Given the description of an element on the screen output the (x, y) to click on. 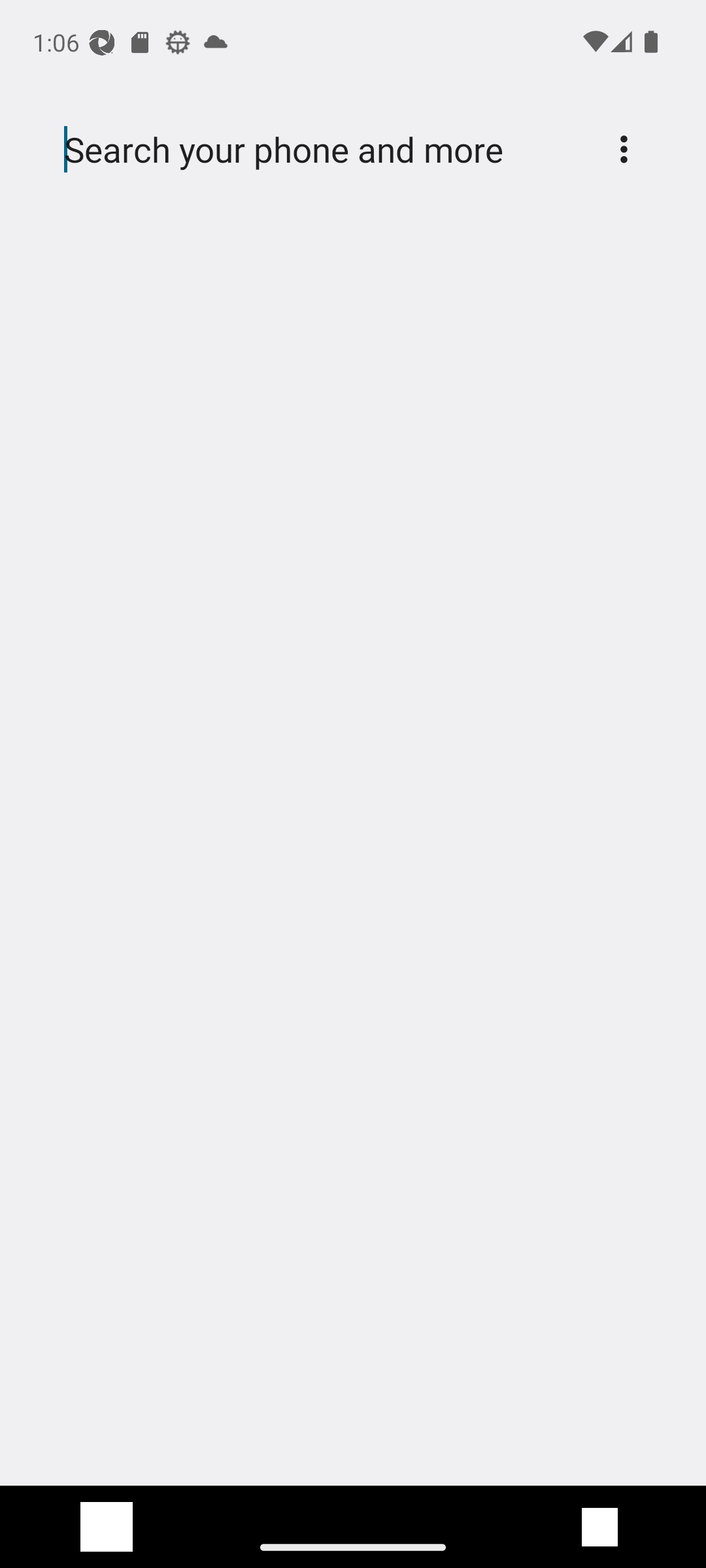
Search your phone and more (321, 149)
Preferences (623, 149)
